Given the description of an element on the screen output the (x, y) to click on. 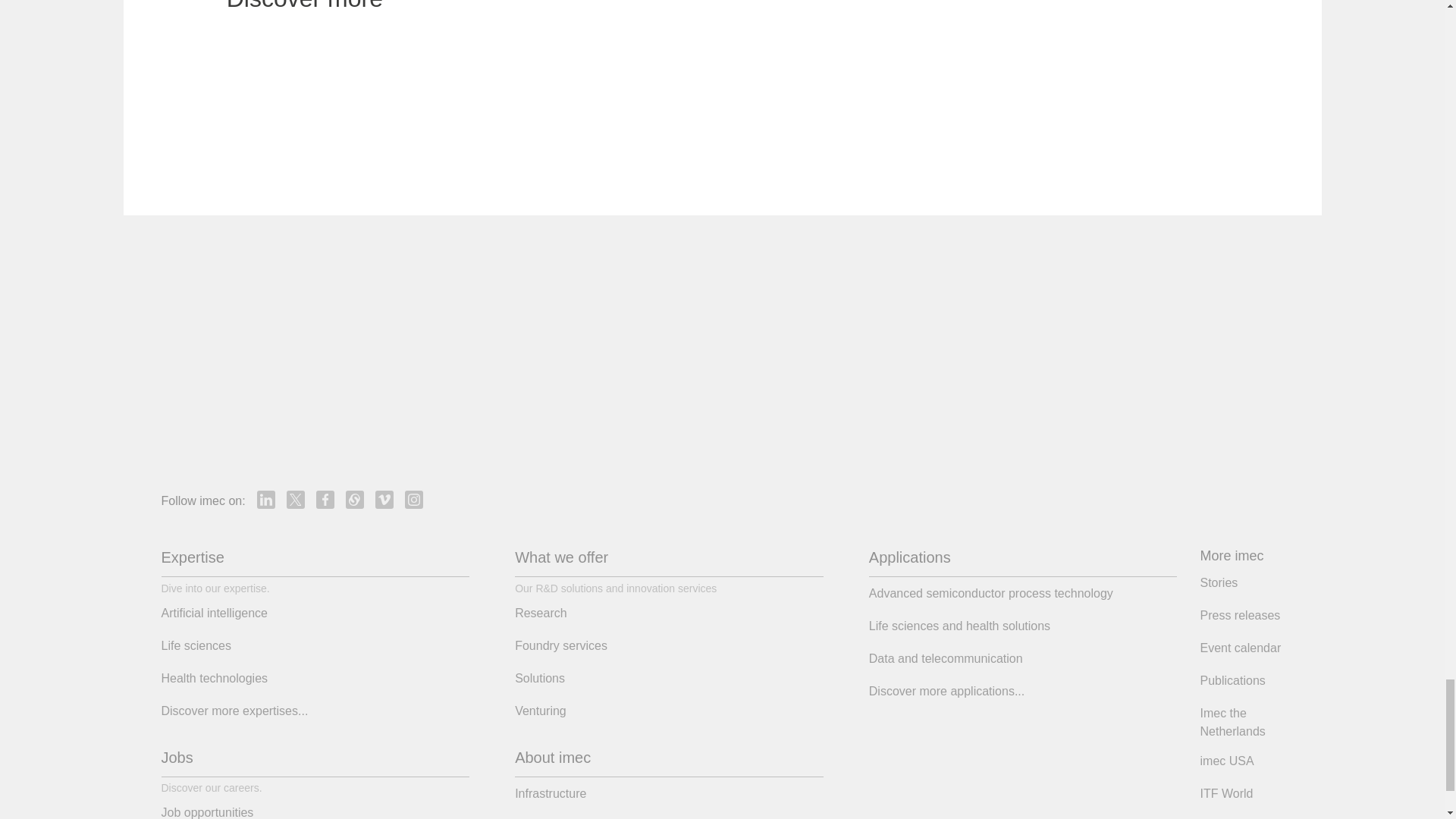
Vimeo (384, 499)
Discover more (310, 8)
LinkedIn (266, 499)
X (295, 499)
Facebook (324, 499)
Instagram (413, 499)
Swivle (355, 499)
